Given the description of an element on the screen output the (x, y) to click on. 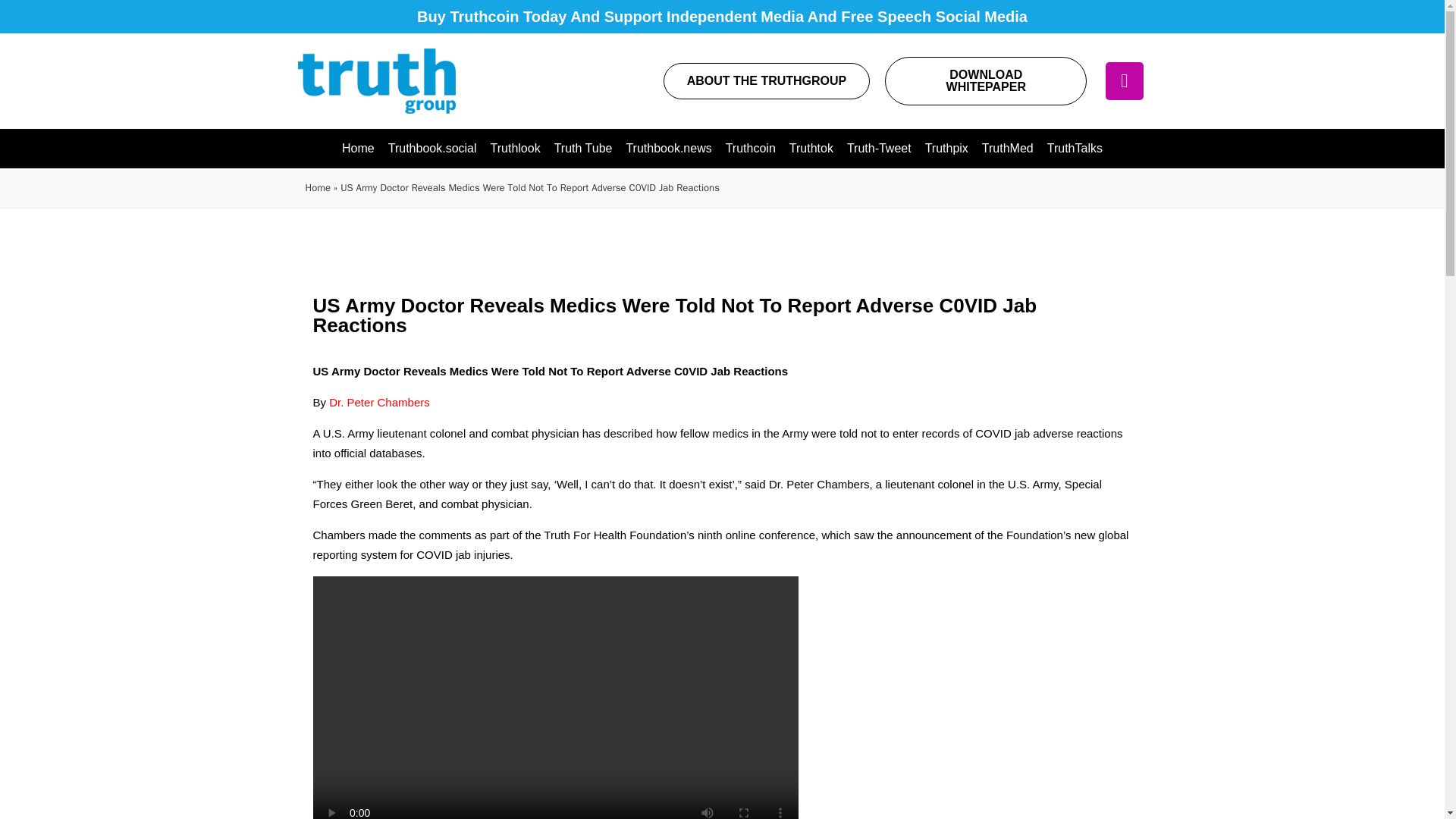
TruthTalks (1075, 148)
DOWNLOAD WHITEPAPER (985, 80)
Truthcoin (751, 148)
Truth-Tweet (879, 148)
Truthbook.social (432, 148)
Home (317, 188)
Truthtok (811, 148)
Home (357, 148)
Truth Tube (583, 148)
ABOUT THE TRUTHGROUP (766, 81)
Truthlook (515, 148)
Truthpix (946, 148)
TruthMed (1008, 148)
Truthbook.news (667, 148)
